Given the description of an element on the screen output the (x, y) to click on. 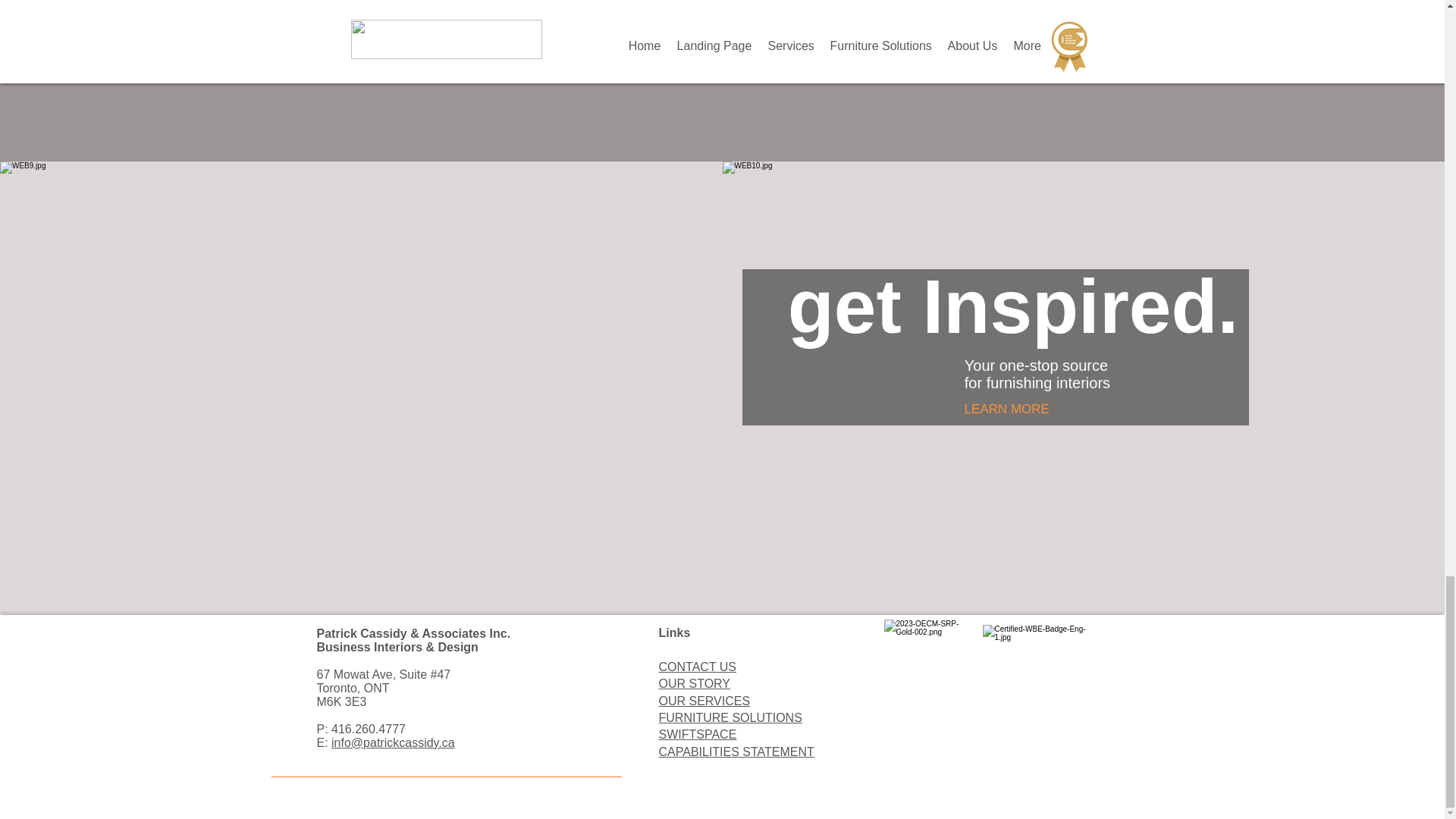
CAPABILITIES STATEMENT (735, 751)
CONTACT US (697, 666)
FURNITURE SOLUTIONS (730, 717)
LEARN MORE (1007, 409)
OUR STORY (694, 683)
SWIFTSPACE (697, 734)
OUR SERVICES (703, 700)
